Given the description of an element on the screen output the (x, y) to click on. 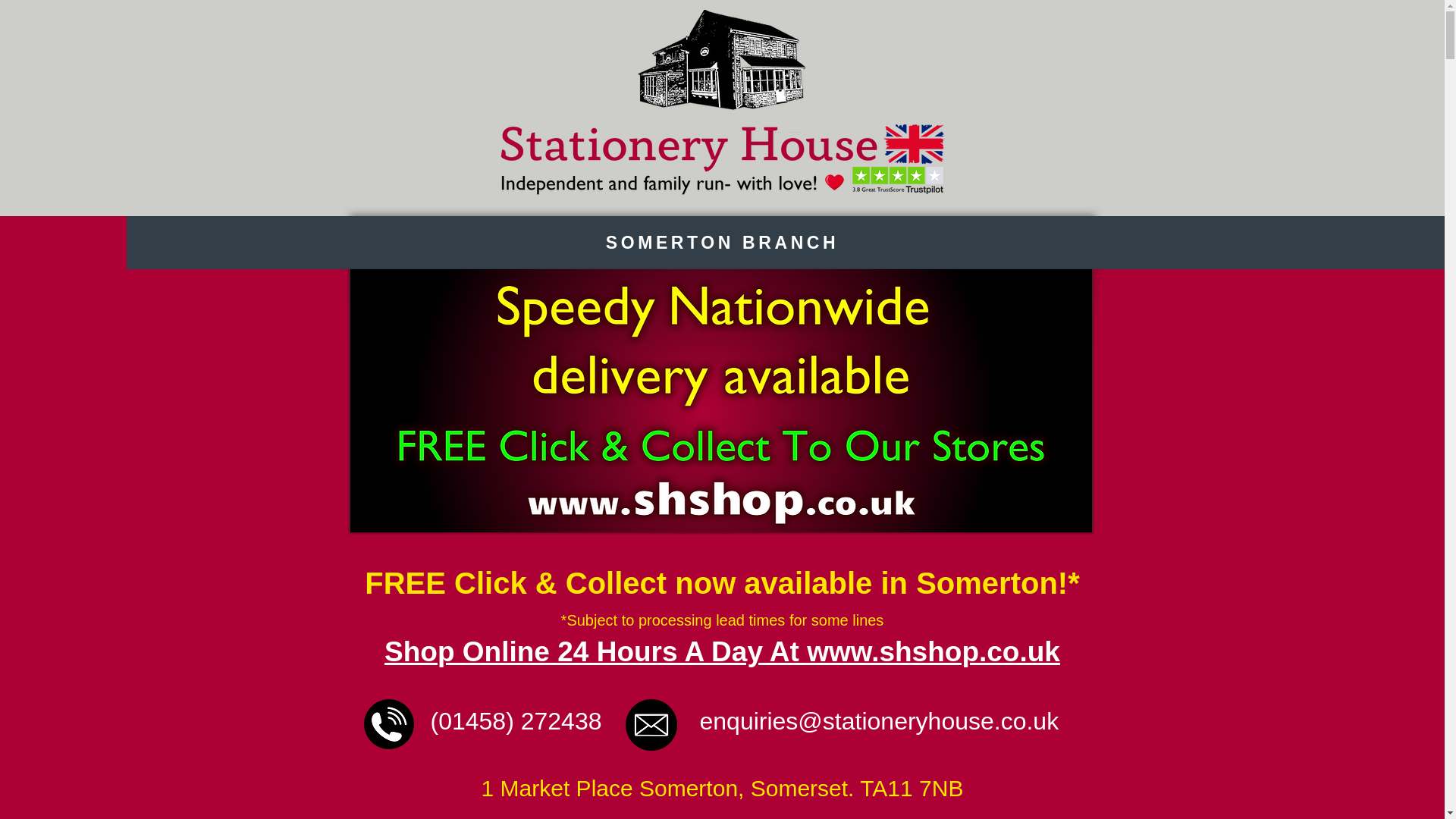
Shop Online 24 Hours A Day At www.shshop.co.uk (721, 652)
